Given the description of an element on the screen output the (x, y) to click on. 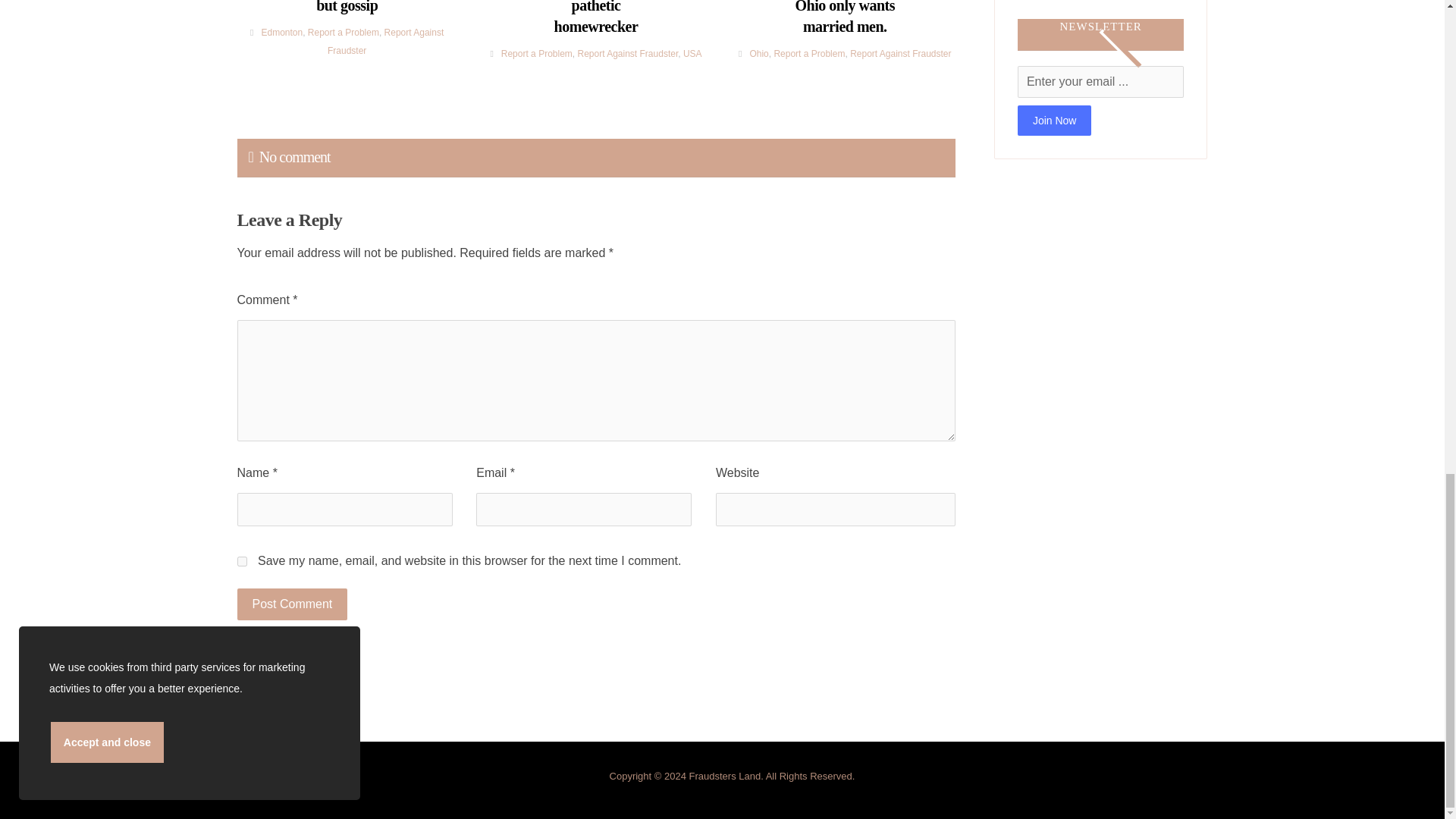
yes (240, 561)
Bernadette Akron Ohio only wants married men. (845, 18)
Michael Hart pathetic homewrecker (596, 18)
Report Against Fraudster (385, 41)
Report a Problem (342, 32)
USA (691, 53)
Post Comment (291, 603)
Ohio (758, 53)
Edmonton (281, 32)
Laura does nothing but gossip (346, 7)
Report Against Fraudster (627, 53)
Report a Problem (536, 53)
